Given the description of an element on the screen output the (x, y) to click on. 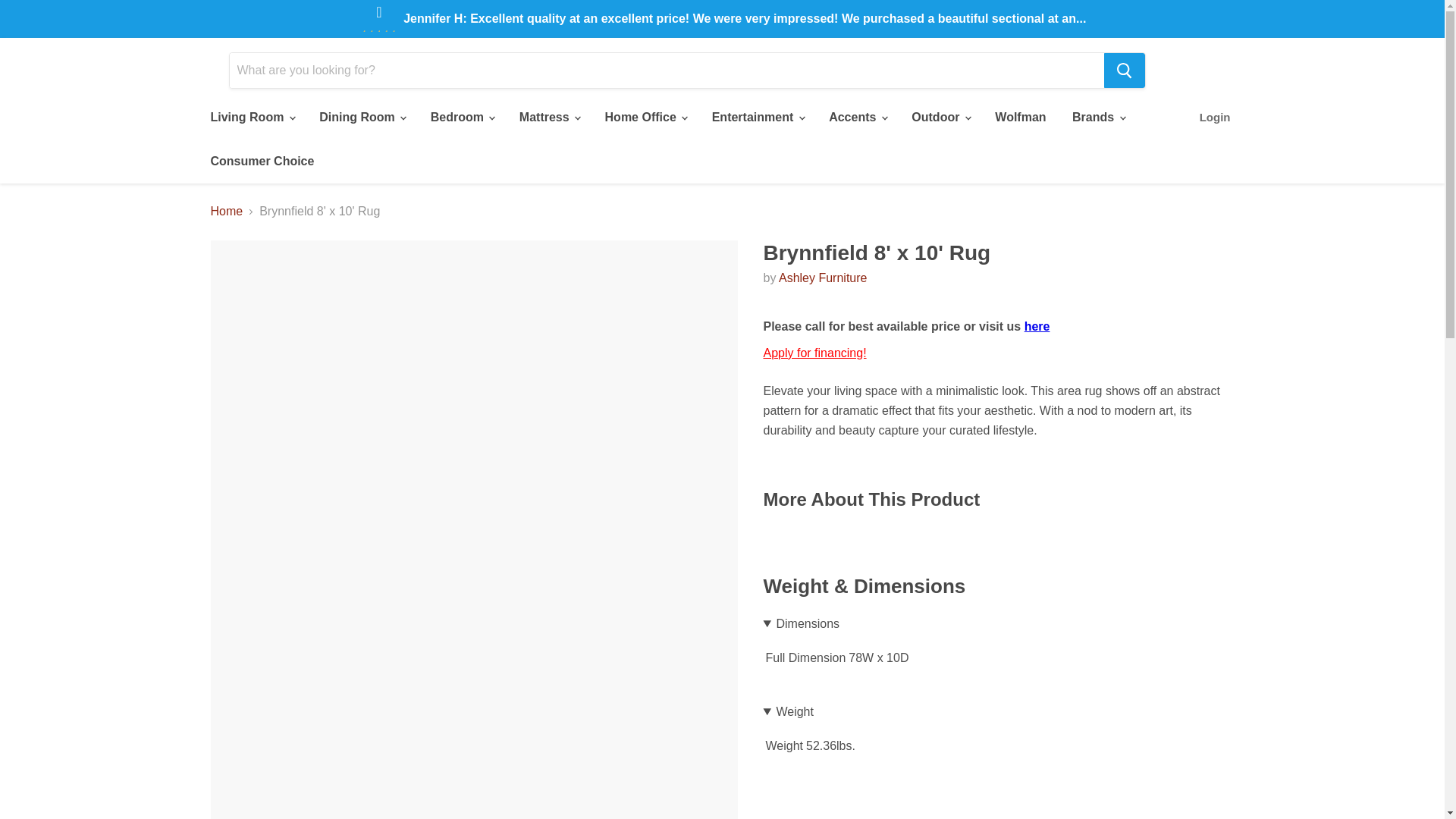
Living Room (251, 117)
Dining Room (360, 117)
Ashley Furniture (822, 277)
